Given the description of an element on the screen output the (x, y) to click on. 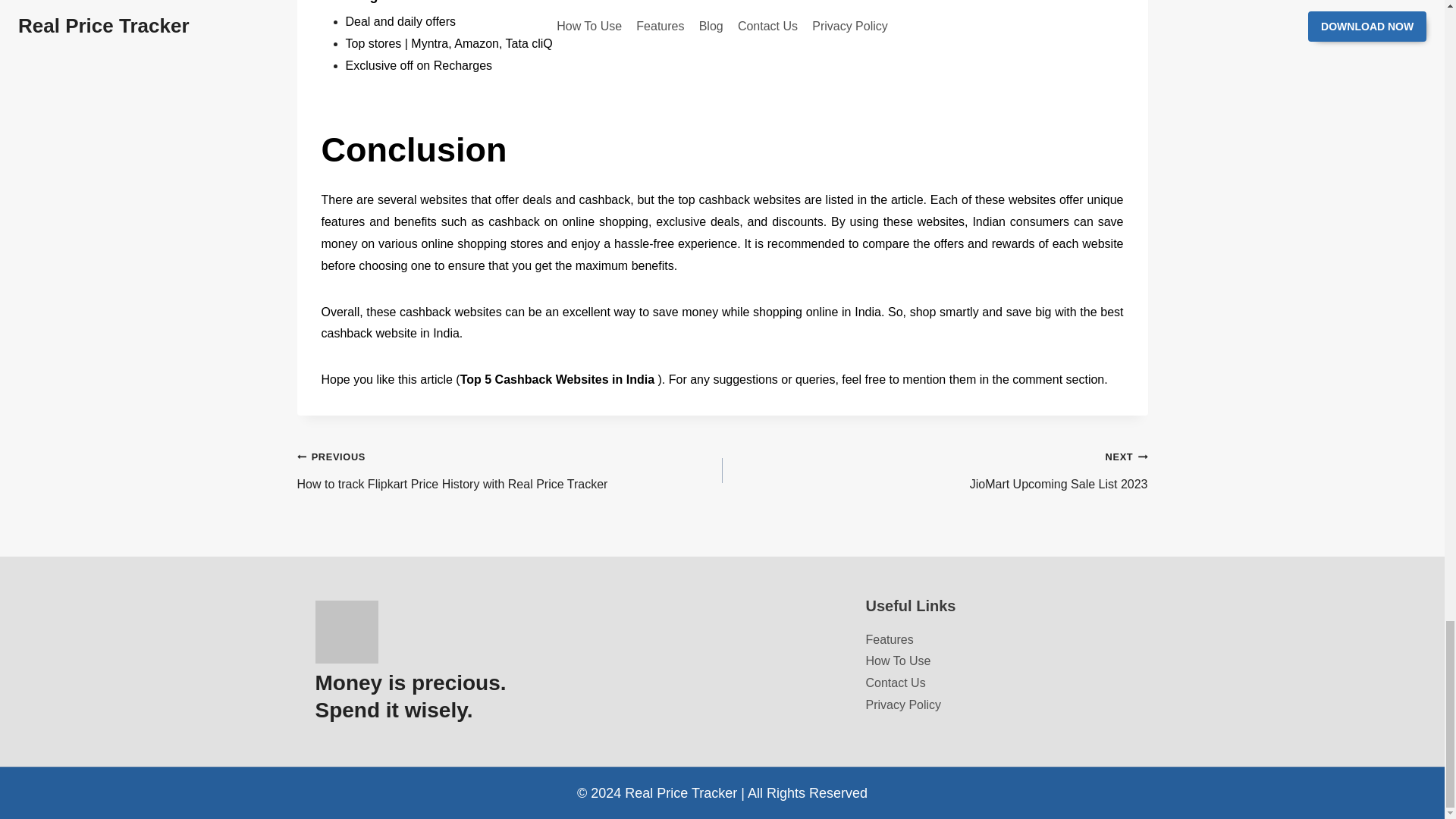
Features (890, 639)
How To Use (934, 470)
Privacy Policy (898, 660)
Contact Us (904, 704)
